Given the description of an element on the screen output the (x, y) to click on. 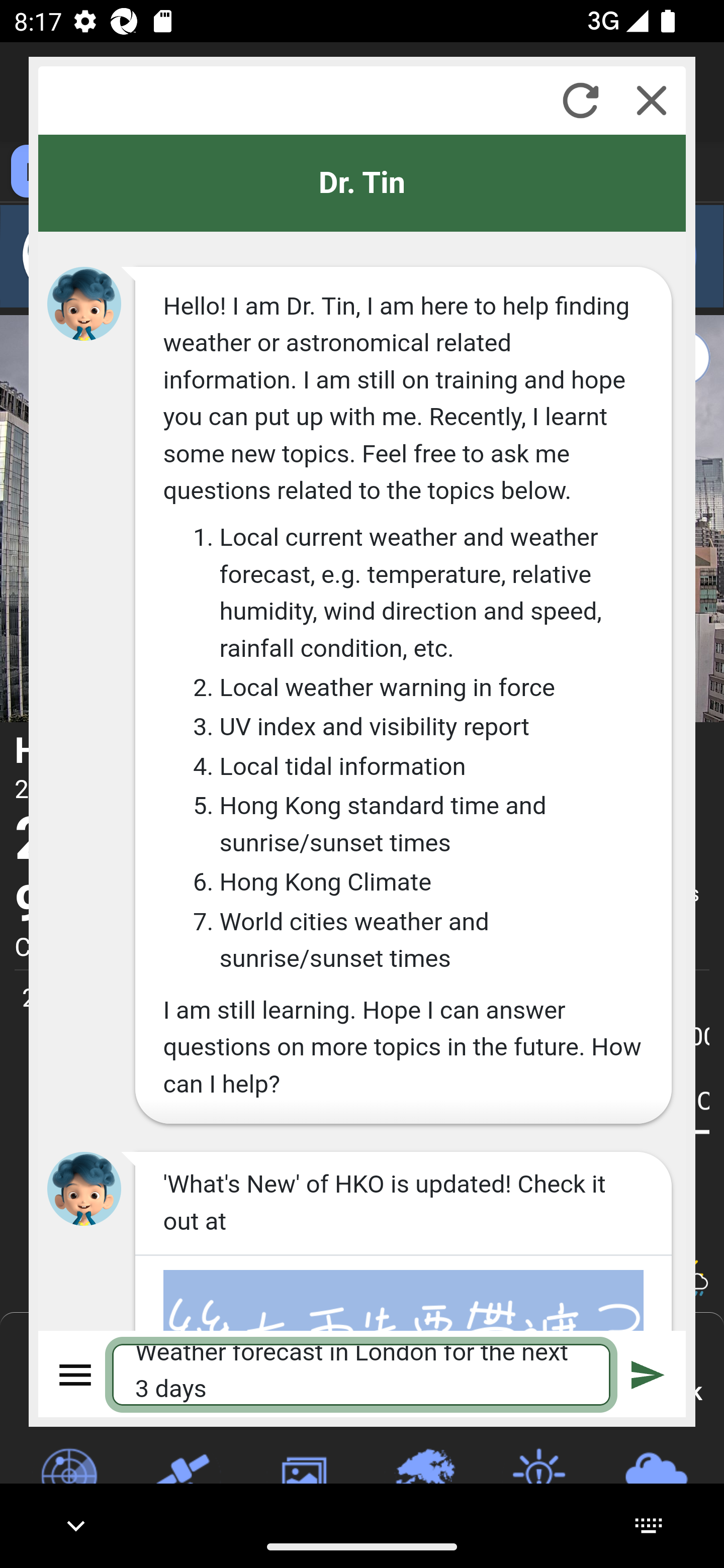
Refresh (580, 100)
Close (651, 100)
Menu (75, 1374)
Submit (648, 1374)
Weather forecast in London for the next 3 days (361, 1374)
